Given the description of an element on the screen output the (x, y) to click on. 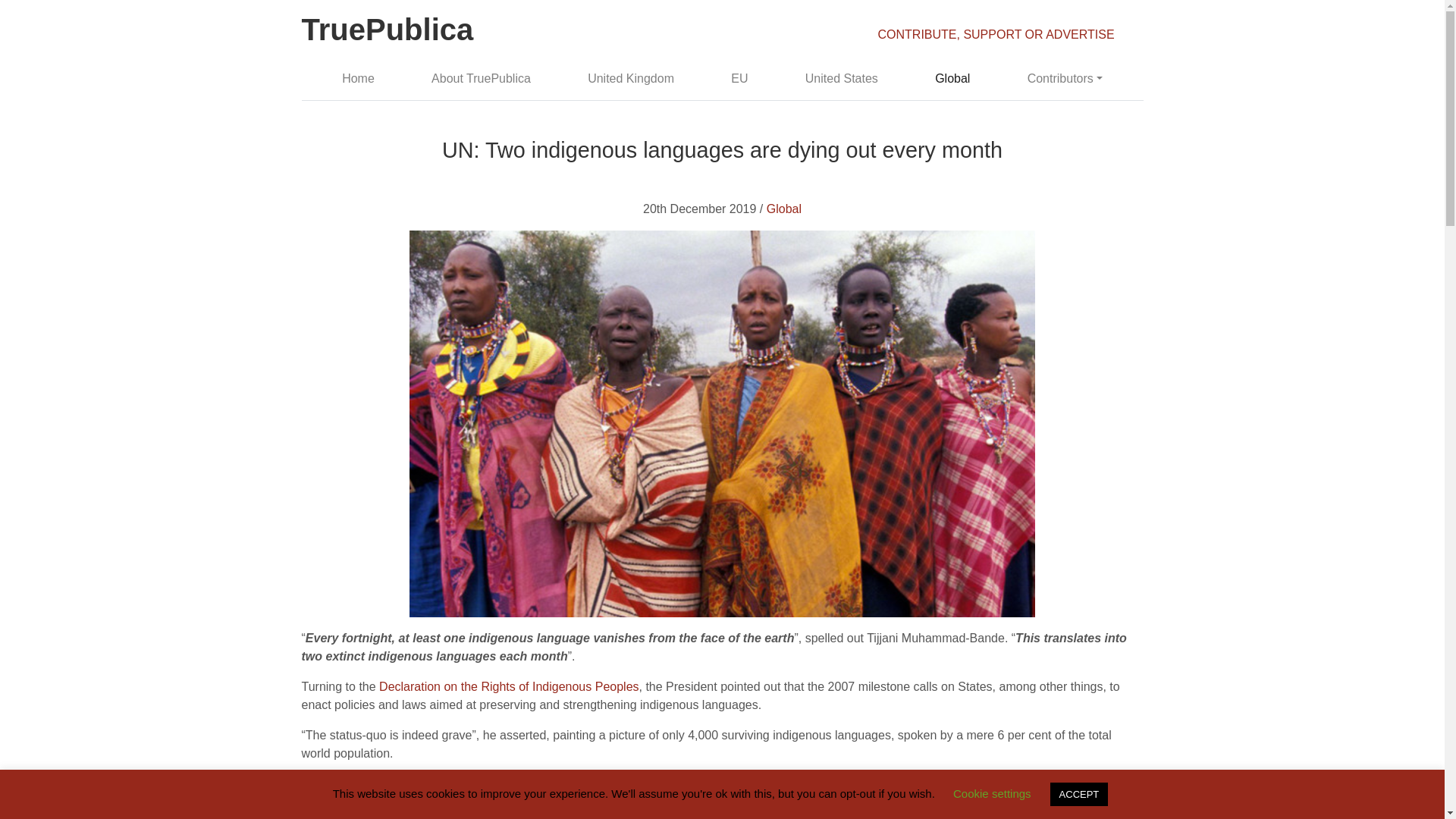
CONTRIBUTE, SUPPORT OR ADVERTISE (996, 33)
Global (784, 208)
Home (358, 78)
United Kingdom (631, 78)
TruePublica (387, 32)
Contributors (1064, 78)
About TruePublica (481, 78)
United States (840, 78)
EU (740, 78)
Global (951, 78)
